Given the description of an element on the screen output the (x, y) to click on. 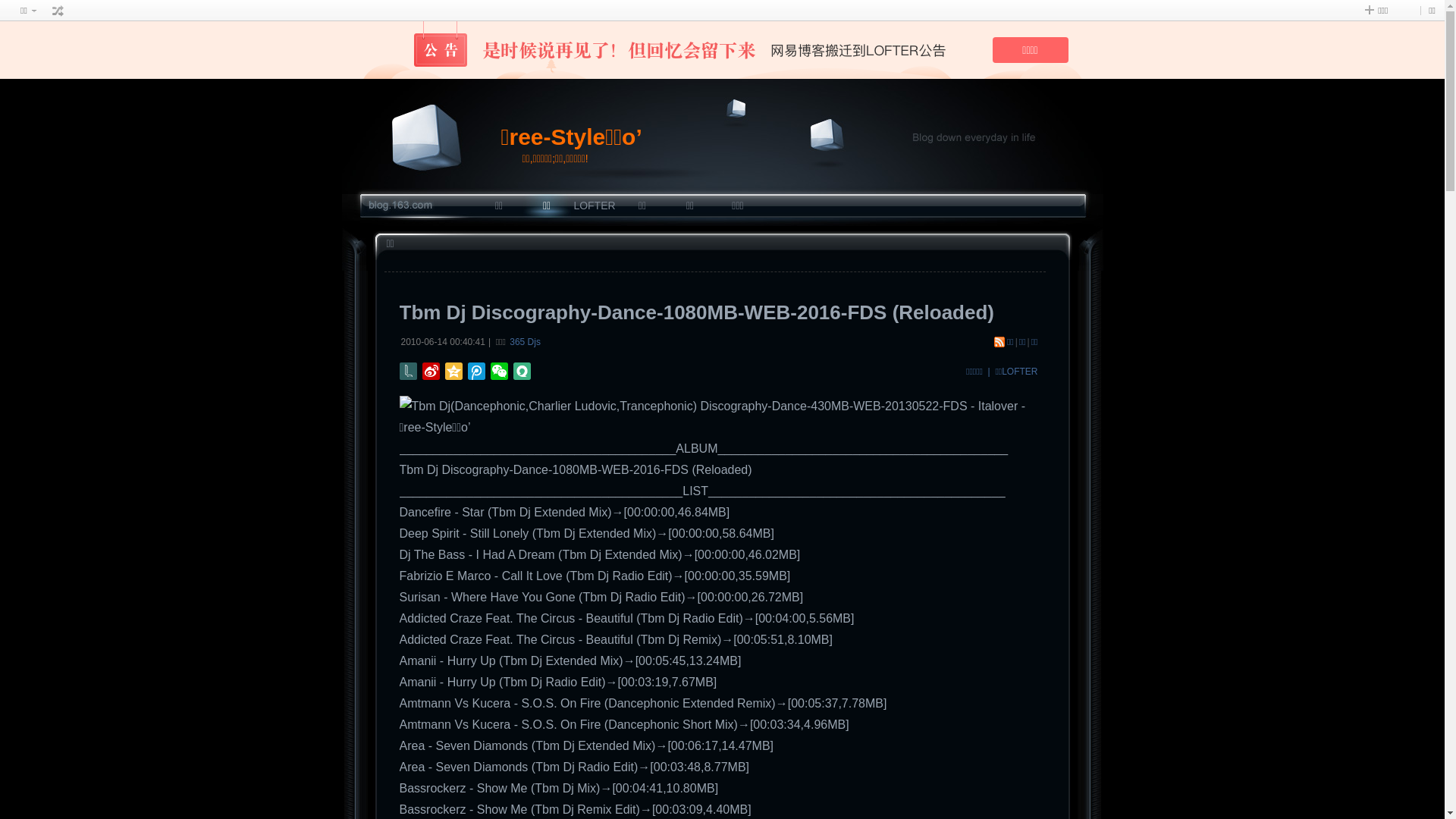
  Element type: text (58, 10)
365 Djs Element type: text (524, 341)
LOFTER Element type: text (594, 205)
